Given the description of an element on the screen output the (x, y) to click on. 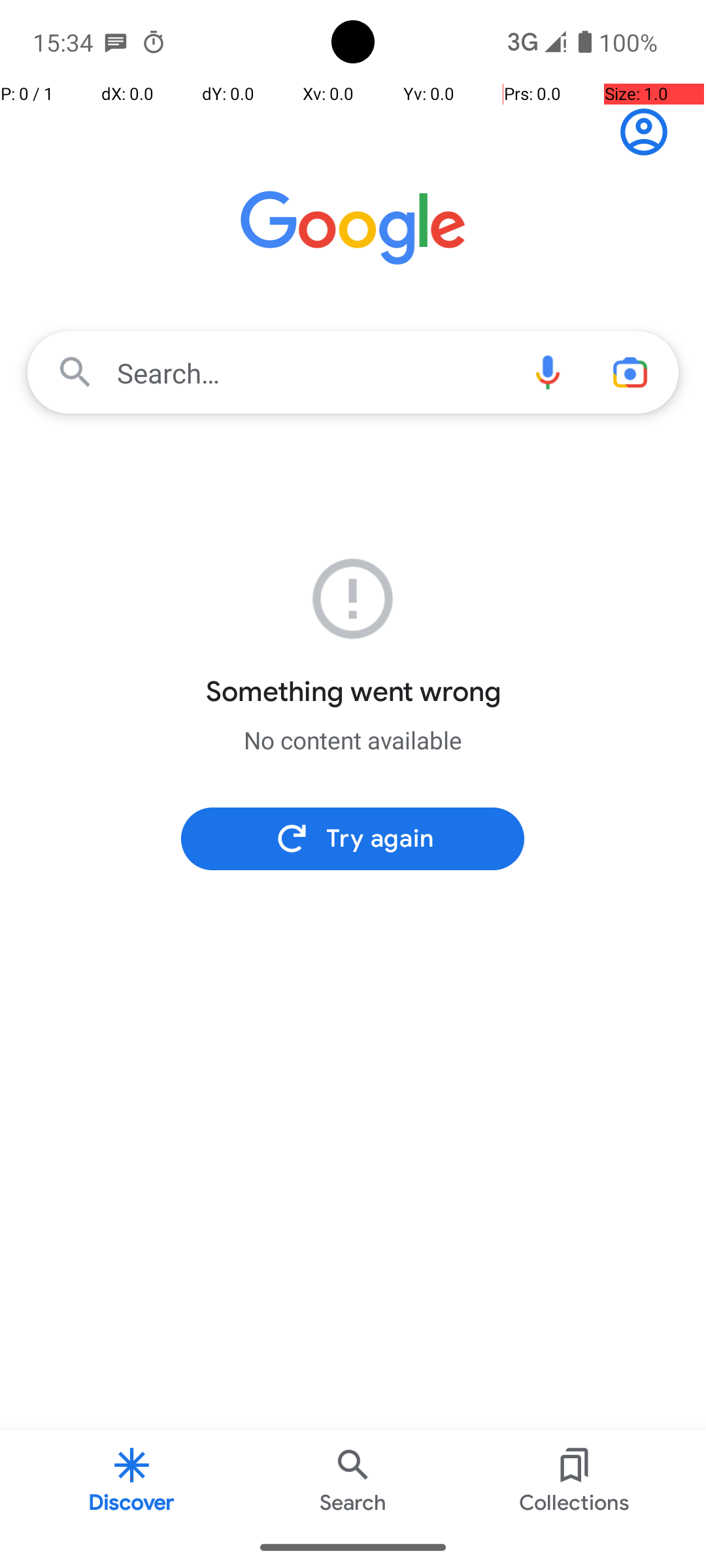
Something went wrong Element type: android.widget.TextView (352, 691)
No content available Element type: android.widget.TextView (352, 739)
Try again Element type: android.widget.Button (352, 838)
